Given the description of an element on the screen output the (x, y) to click on. 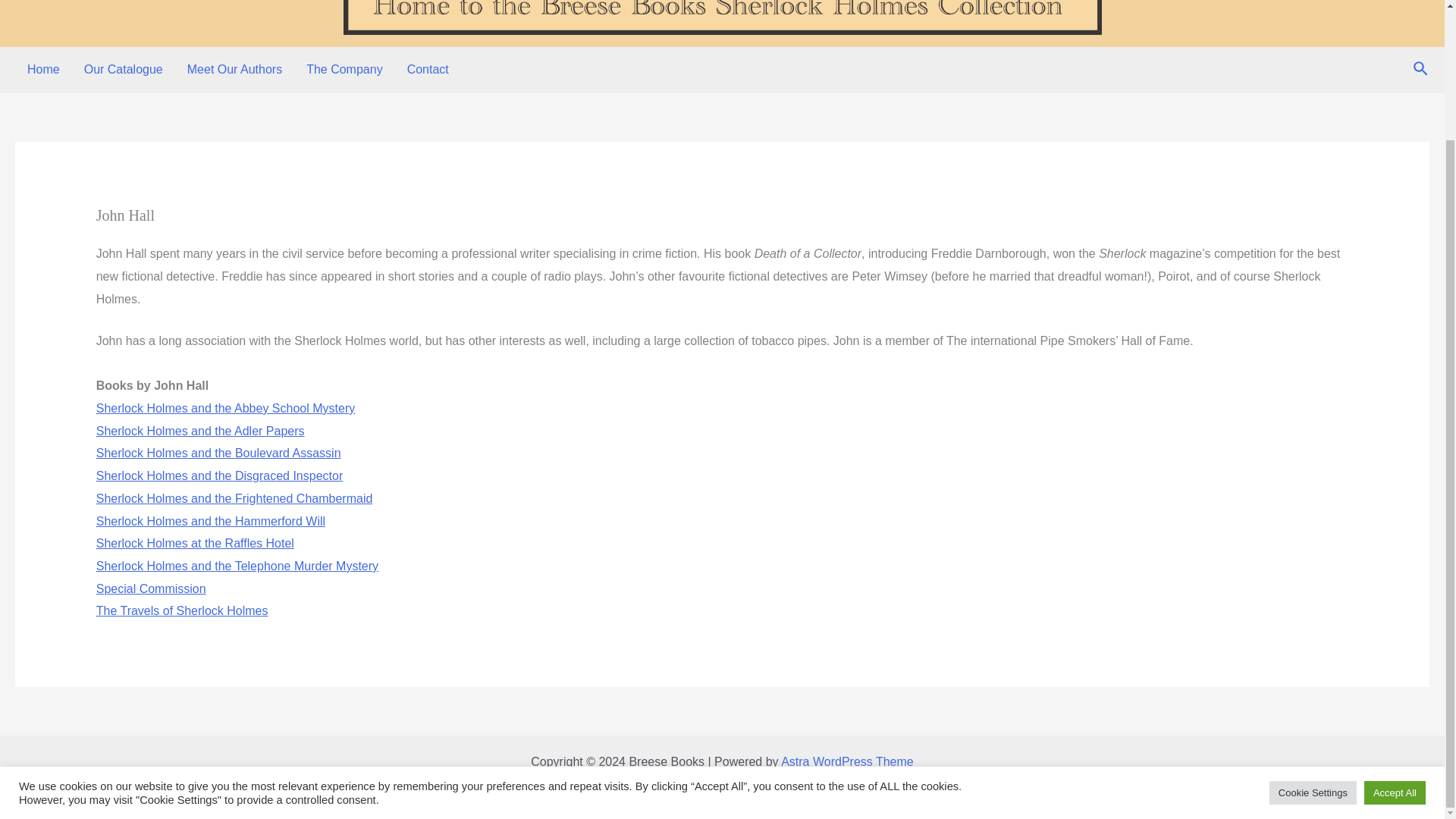
Sherlock Holmes at the Raffles Hotel (195, 543)
Our Catalogue (122, 69)
Sherlock Holmes and the Adler Papers (200, 431)
Sherlock Holmes and the Disgraced Inspector (219, 475)
Meet Our Authors (234, 69)
Sherlock Holmes and the Boulevard Assassin (218, 452)
Sherlock Holmes and the Hammerford Will (210, 521)
The Company (344, 69)
Sherlock Holmes and the Frightened Chambermaid (234, 498)
Astra WordPress Theme (847, 761)
Accept All (1394, 634)
Search (1421, 69)
Cookie Settings (1312, 634)
Privacy Policy (722, 791)
Home (42, 69)
